Given the description of an element on the screen output the (x, y) to click on. 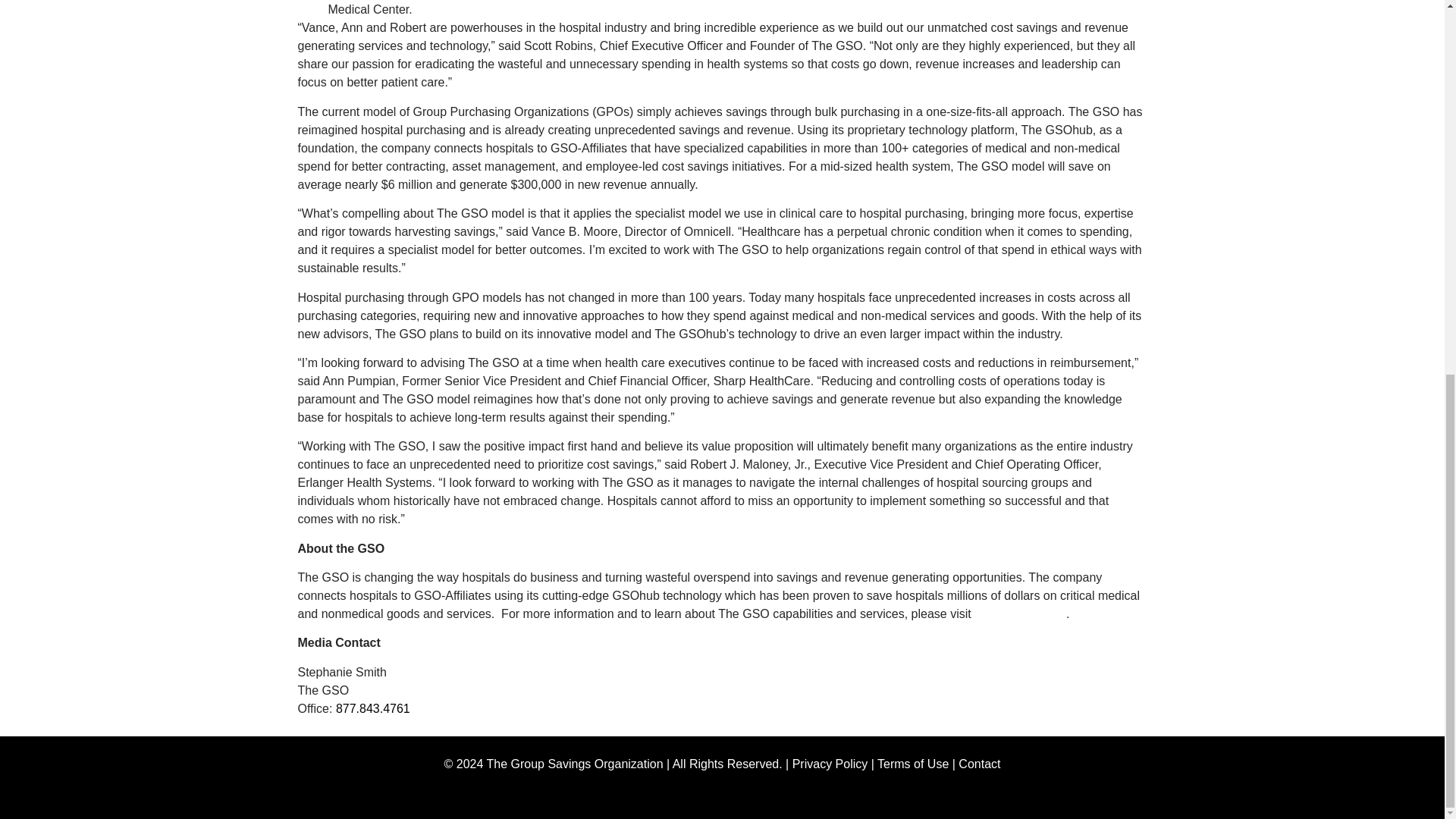
Contact (979, 763)
www.thegso.com (1019, 613)
Privacy Policy (829, 763)
Terms of Use (913, 763)
